Given the description of an element on the screen output the (x, y) to click on. 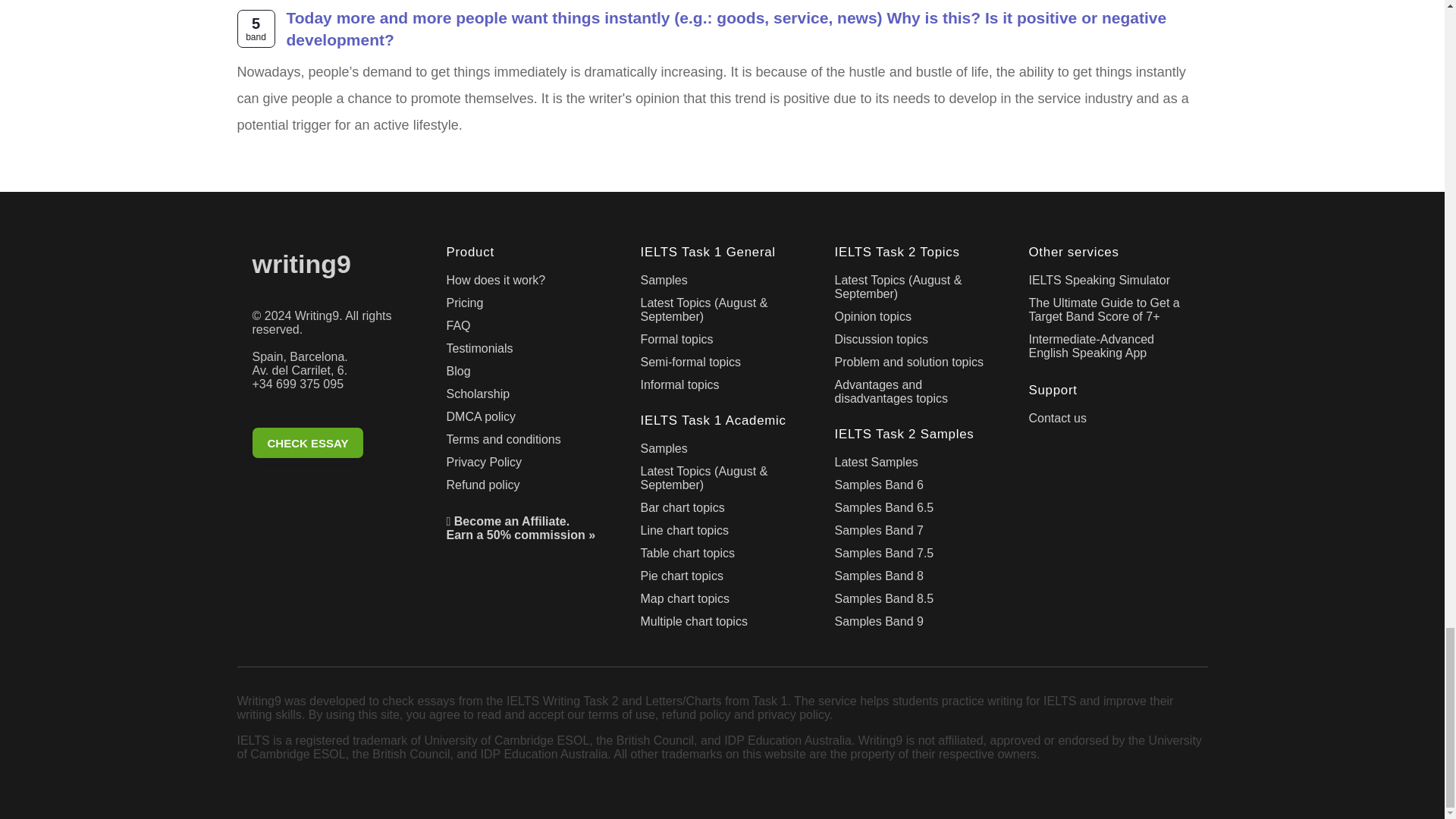
IELTS Task 2 Opinion topics (915, 319)
How does it work? (527, 282)
writing9 (332, 266)
IELTS Task 1 General Latest Topics (721, 312)
CHECK ESSAY (306, 442)
IELTS Task 1 Academic Latest Topics (721, 481)
CHECK ESSAY (332, 445)
IELTS Task 1 Academic Map chart topics (721, 601)
IELTS Task 1 Academic Table chart topics (721, 556)
IELTS Task 1 Academic Line chart topics (721, 533)
